Given the description of an element on the screen output the (x, y) to click on. 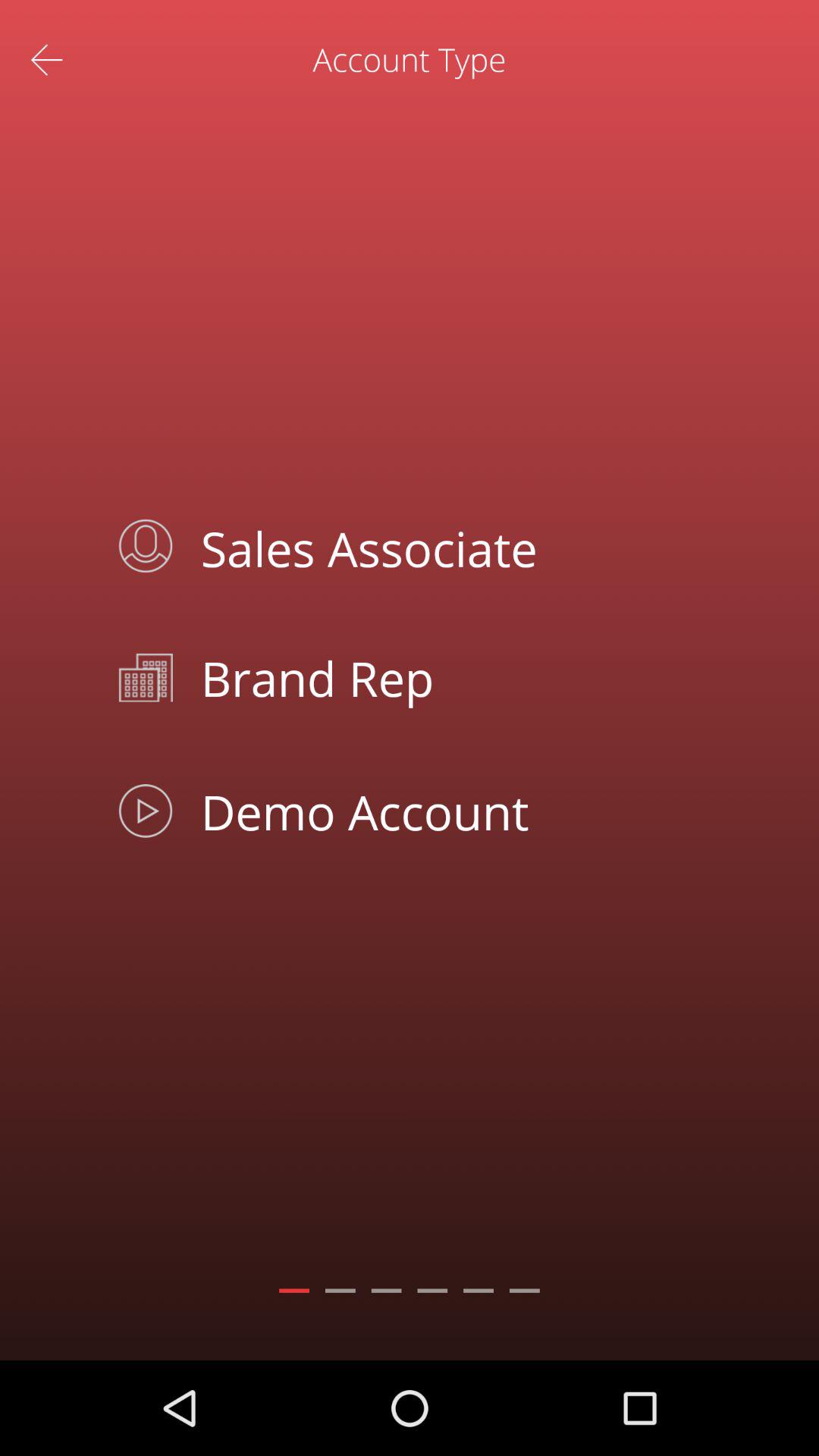
flip to demo account item (444, 811)
